Given the description of an element on the screen output the (x, y) to click on. 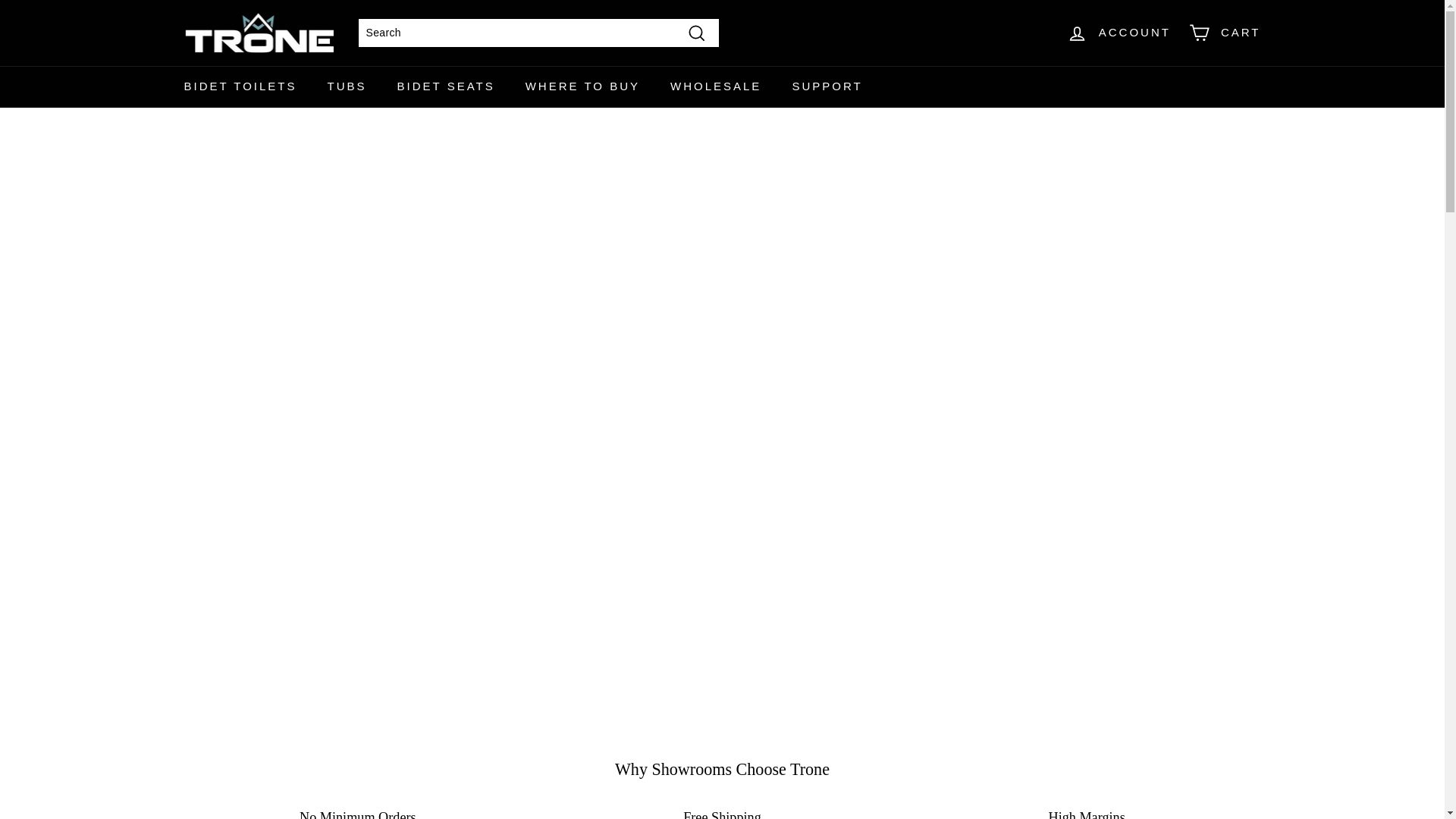
BIDET TOILETS (239, 86)
BIDET SEATS (446, 86)
ACCOUNT (1118, 32)
TUBS (347, 86)
WHOLESALE (715, 86)
WHERE TO BUY (583, 86)
SUPPORT (826, 86)
